Given the description of an element on the screen output the (x, y) to click on. 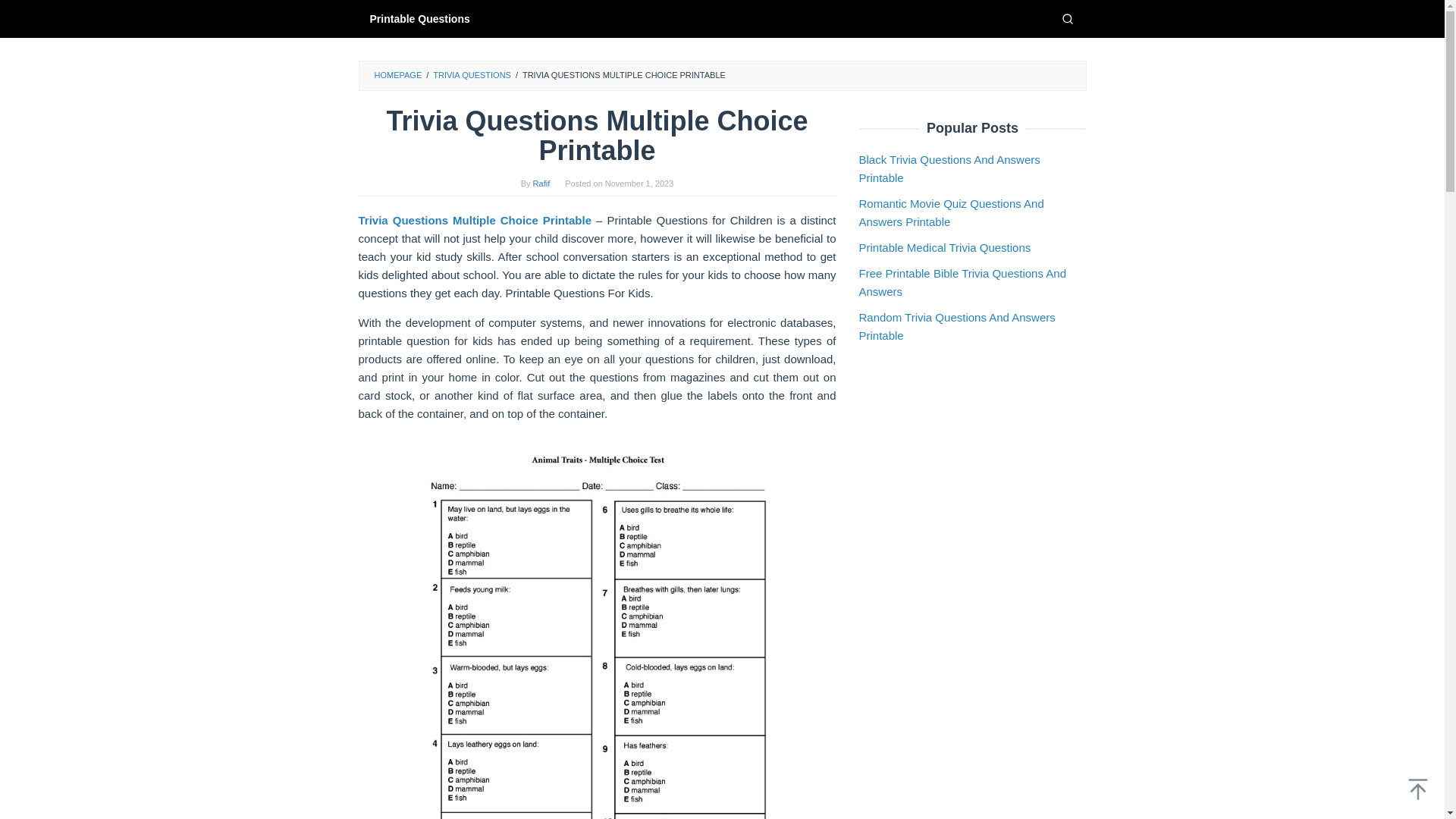
Rafif (541, 183)
Trivia Questions Multiple Choice Printable (474, 219)
TRIVIA QUESTIONS (471, 74)
Search (1067, 18)
HOMEPAGE (398, 74)
Permalink to: Rafif (541, 183)
Printable Questions (419, 18)
